Given the description of an element on the screen output the (x, y) to click on. 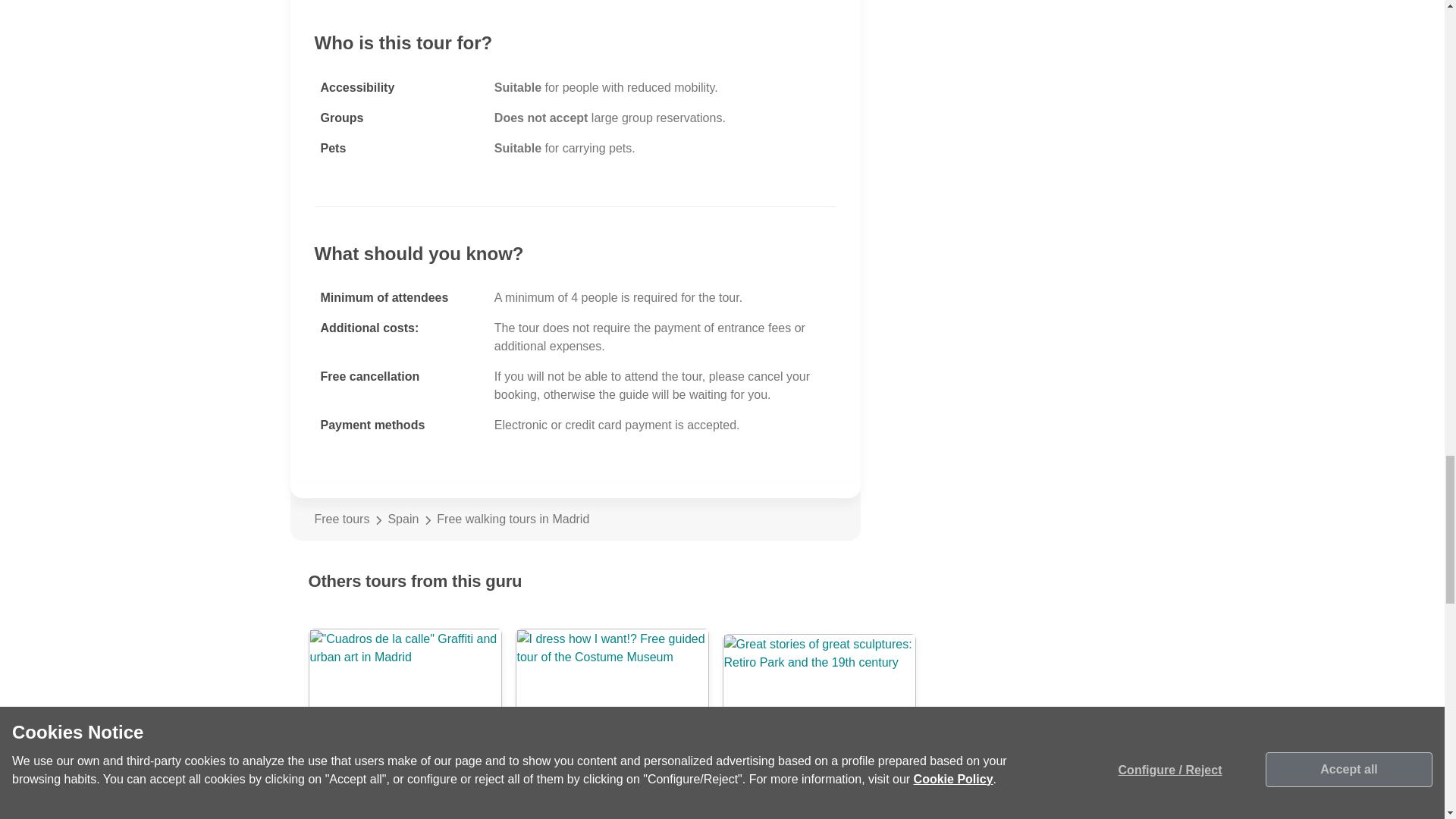
Free walking tours in Madrid (635, 519)
Free tours (341, 519)
Spain (403, 519)
